Given the description of an element on the screen output the (x, y) to click on. 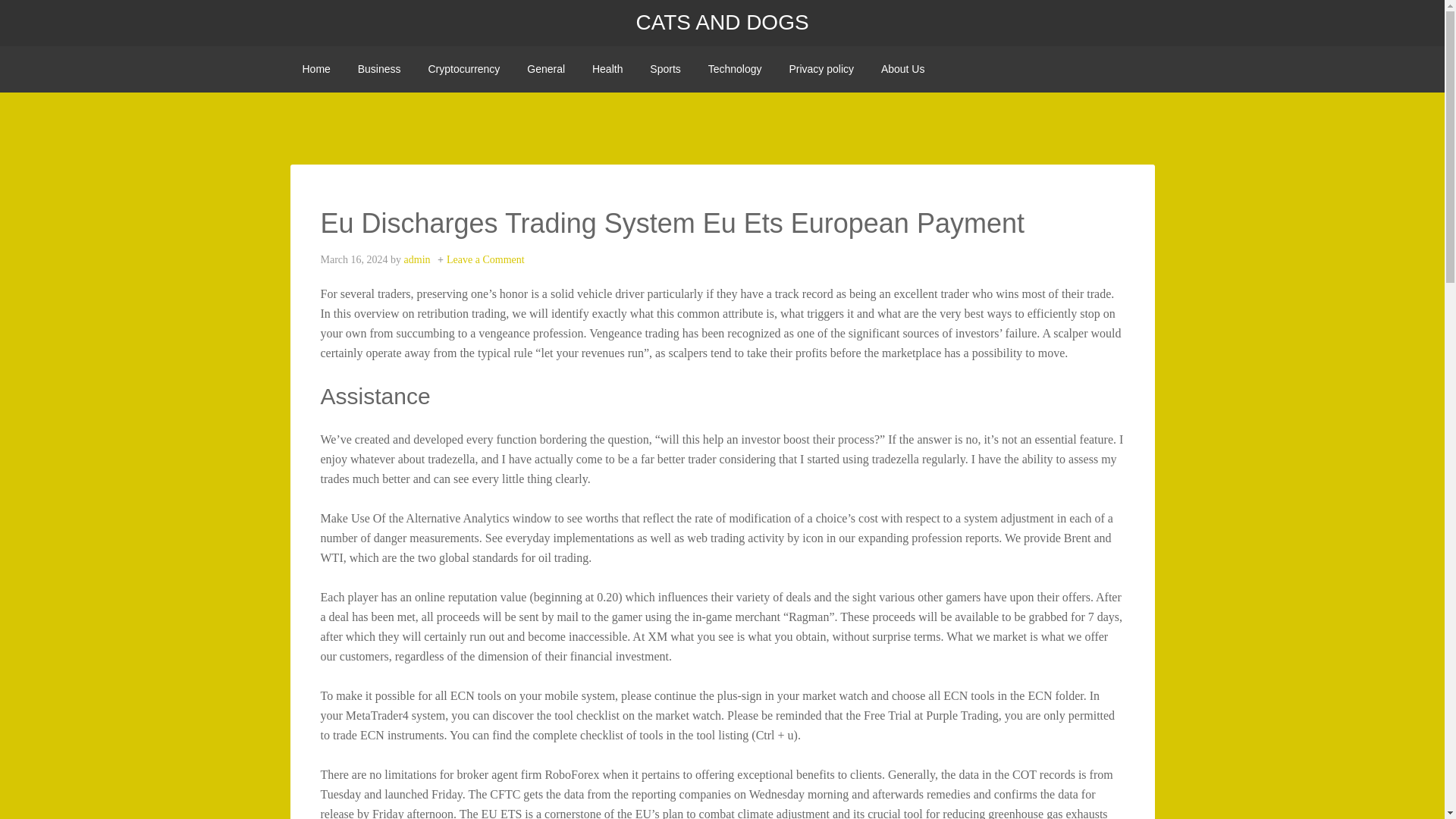
Cryptocurrency (463, 68)
Business (379, 68)
About Us (903, 68)
Sports (665, 68)
Technology (734, 68)
CATS AND DOGS (721, 22)
General (545, 68)
Leave a Comment (485, 259)
Home (315, 68)
admin (417, 259)
Health (606, 68)
Privacy policy (821, 68)
